Given the description of an element on the screen output the (x, y) to click on. 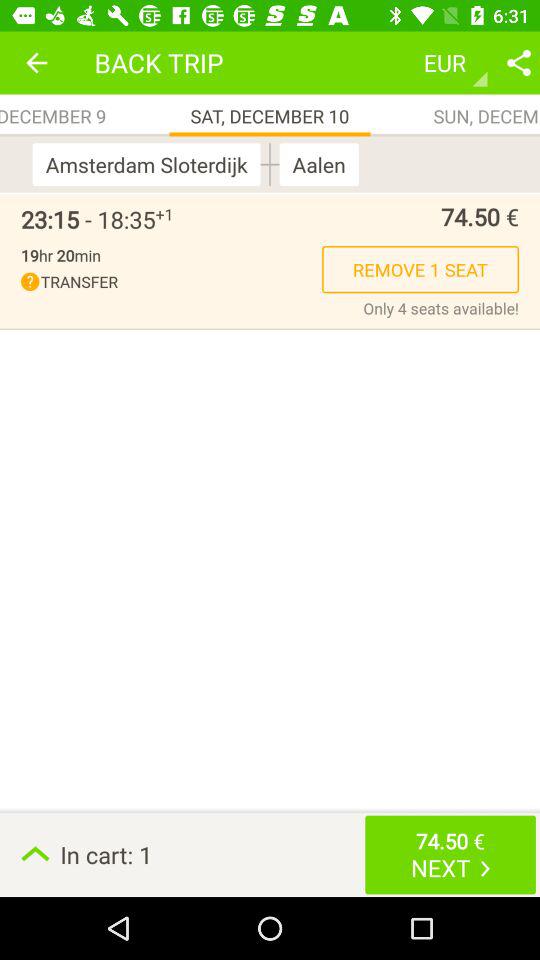
share button (519, 62)
